Given the description of an element on the screen output the (x, y) to click on. 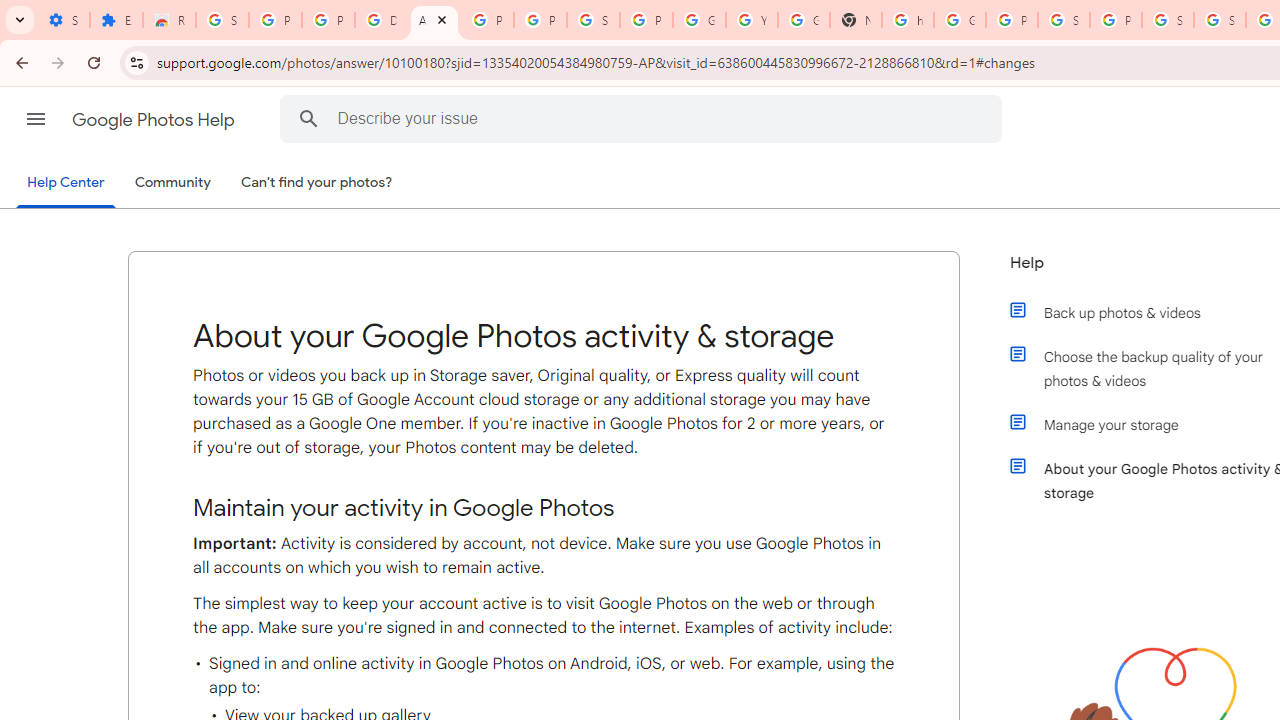
Google Photos Help (155, 119)
New Tab (855, 20)
Sign in - Google Accounts (1064, 20)
Search Help Center (309, 118)
